Given the description of an element on the screen output the (x, y) to click on. 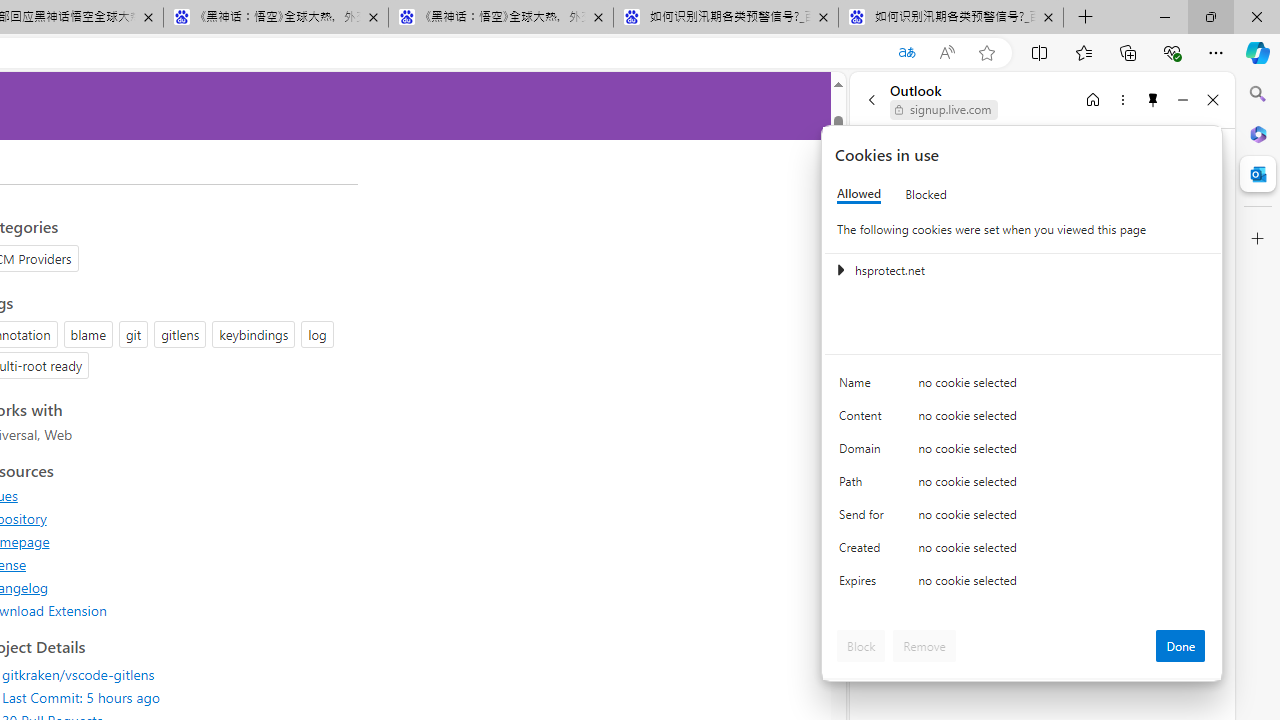
Class: c0153 c0157 c0154 (1023, 386)
Class: c0153 c0157 (1023, 584)
Allowed (859, 193)
Block (861, 645)
no cookie selected (1062, 585)
Done (1179, 645)
Name (864, 387)
Domain (864, 452)
Created (864, 552)
Path (864, 485)
Send for (864, 518)
Expires (864, 585)
Remove (924, 645)
Content (864, 420)
Blocked (925, 193)
